Given the description of an element on the screen output the (x, y) to click on. 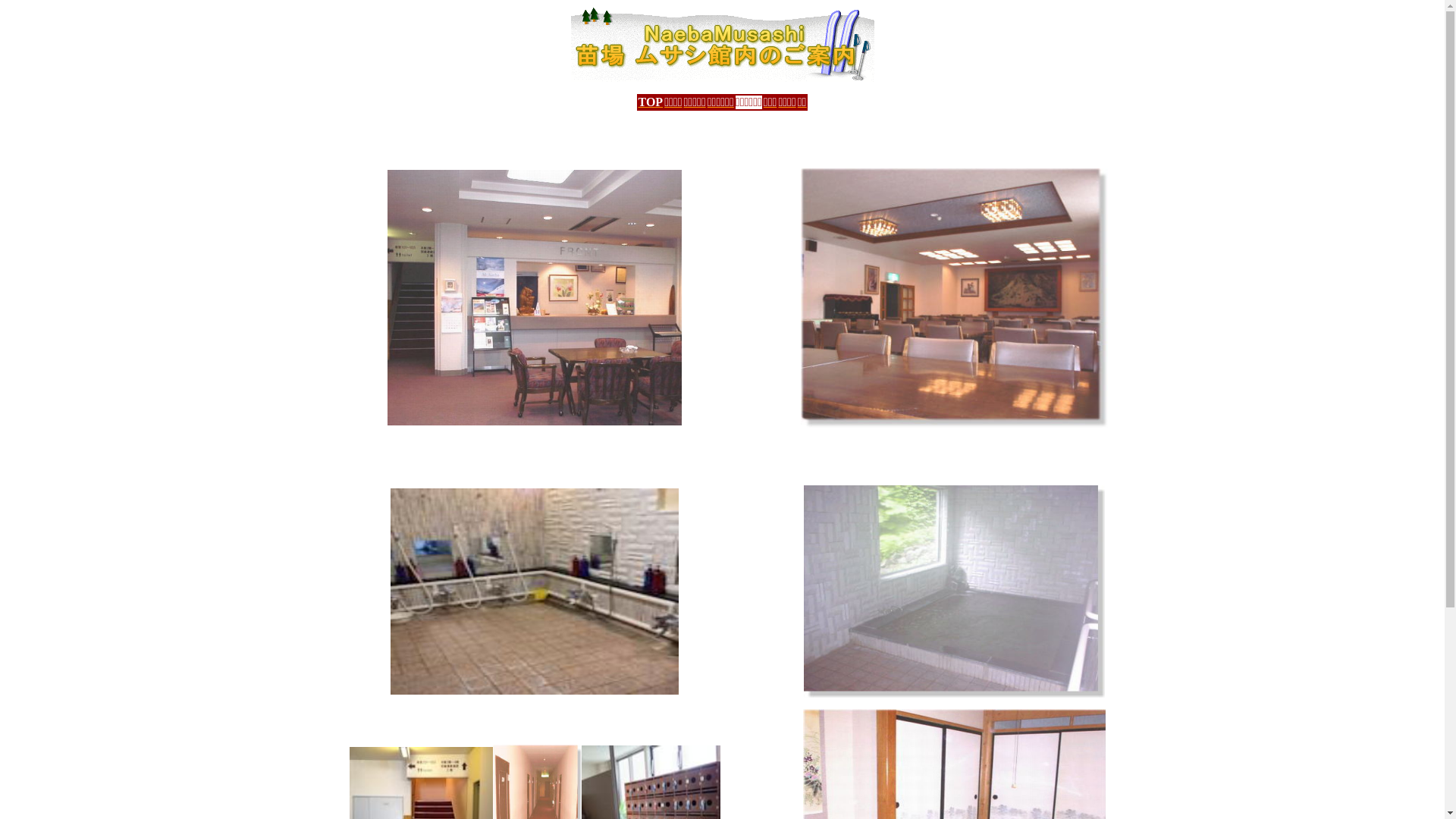
TOP Element type: text (650, 101)
